Given the description of an element on the screen output the (x, y) to click on. 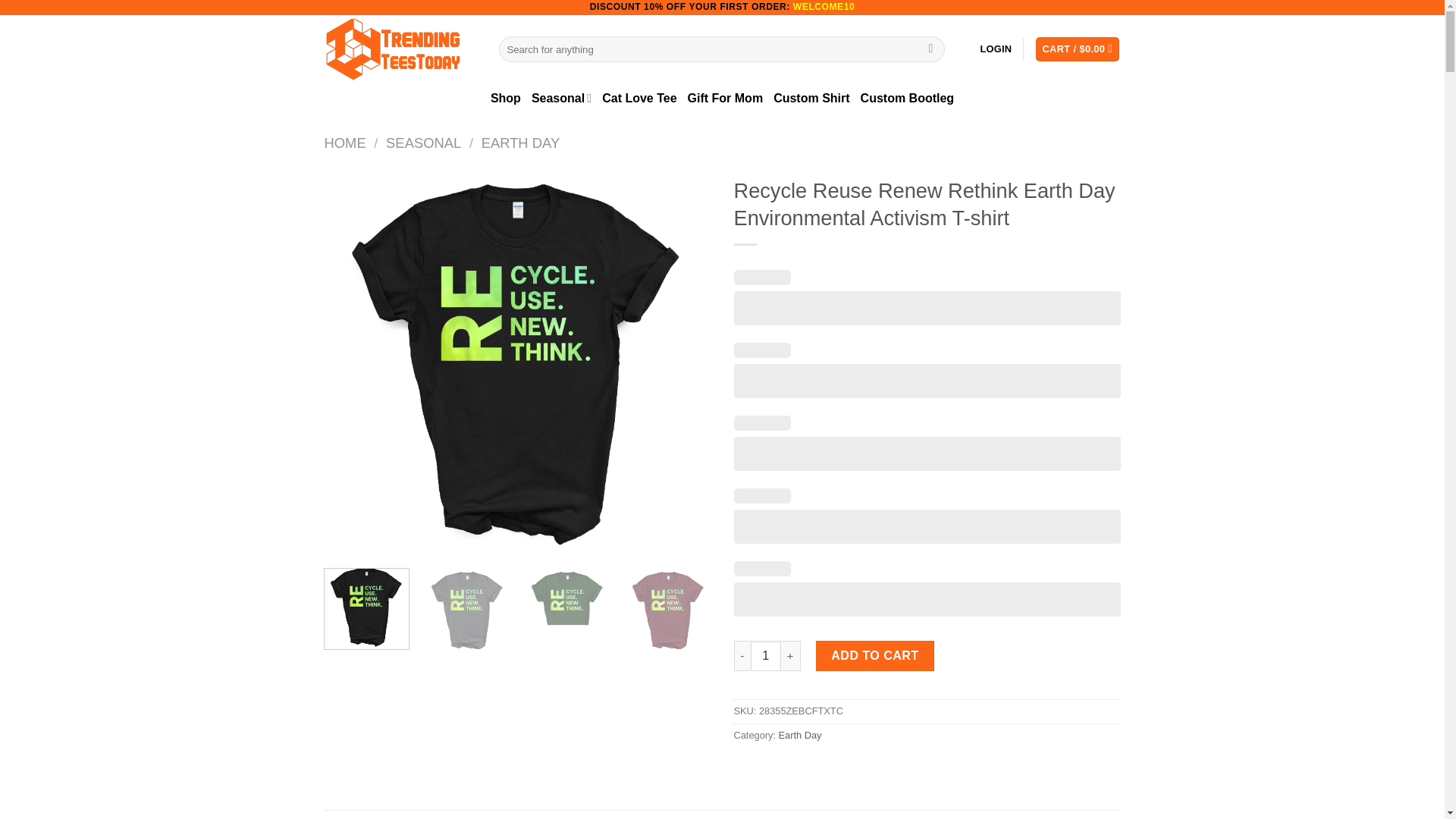
Shop (505, 98)
Seasonal (561, 98)
1 (765, 655)
LOGIN (995, 49)
Search (930, 49)
TrendingTeesToday (400, 49)
SEASONAL (423, 142)
EARTH DAY (520, 142)
Gift For Mom (724, 98)
HOME (345, 142)
Custom Shirt (810, 98)
Cart (1077, 49)
Cat Love Tee (639, 98)
Custom Bootleg (907, 98)
